Given the description of an element on the screen output the (x, y) to click on. 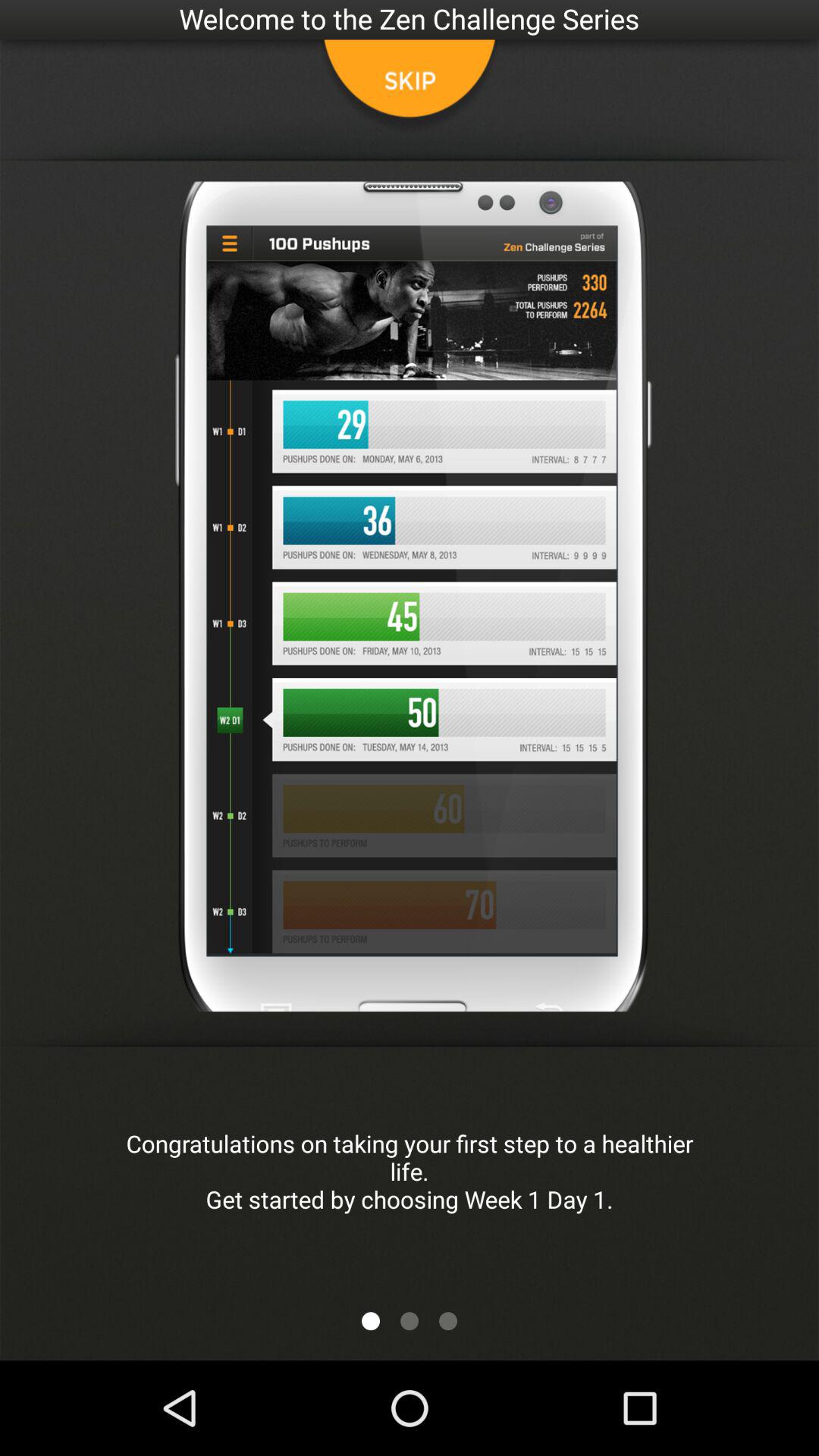
choose the app below congratulations on taking icon (370, 1321)
